Given the description of an element on the screen output the (x, y) to click on. 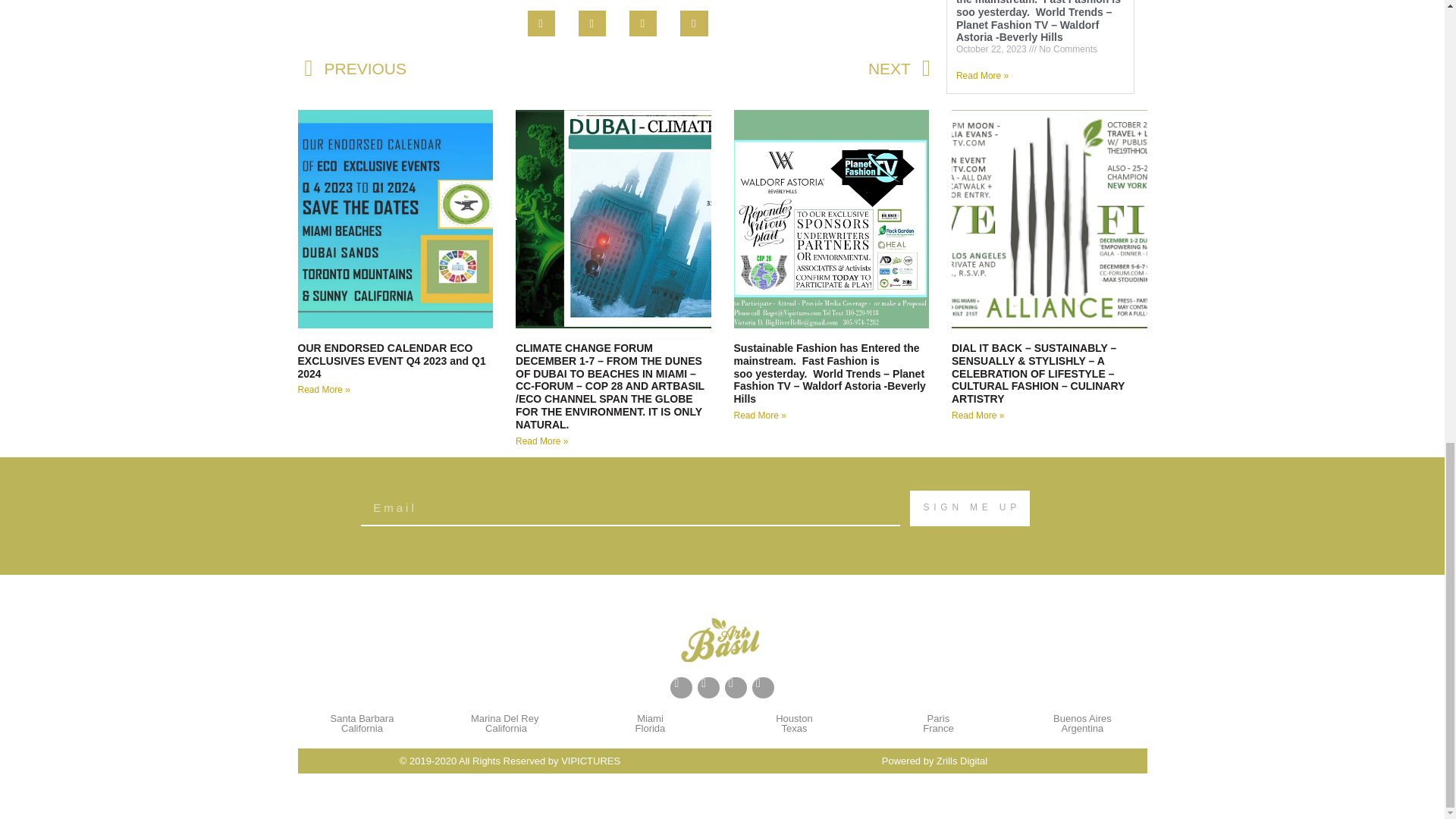
NEXT (773, 68)
PREVIOUS (460, 68)
SIGN ME UP (969, 508)
